Given the description of an element on the screen output the (x, y) to click on. 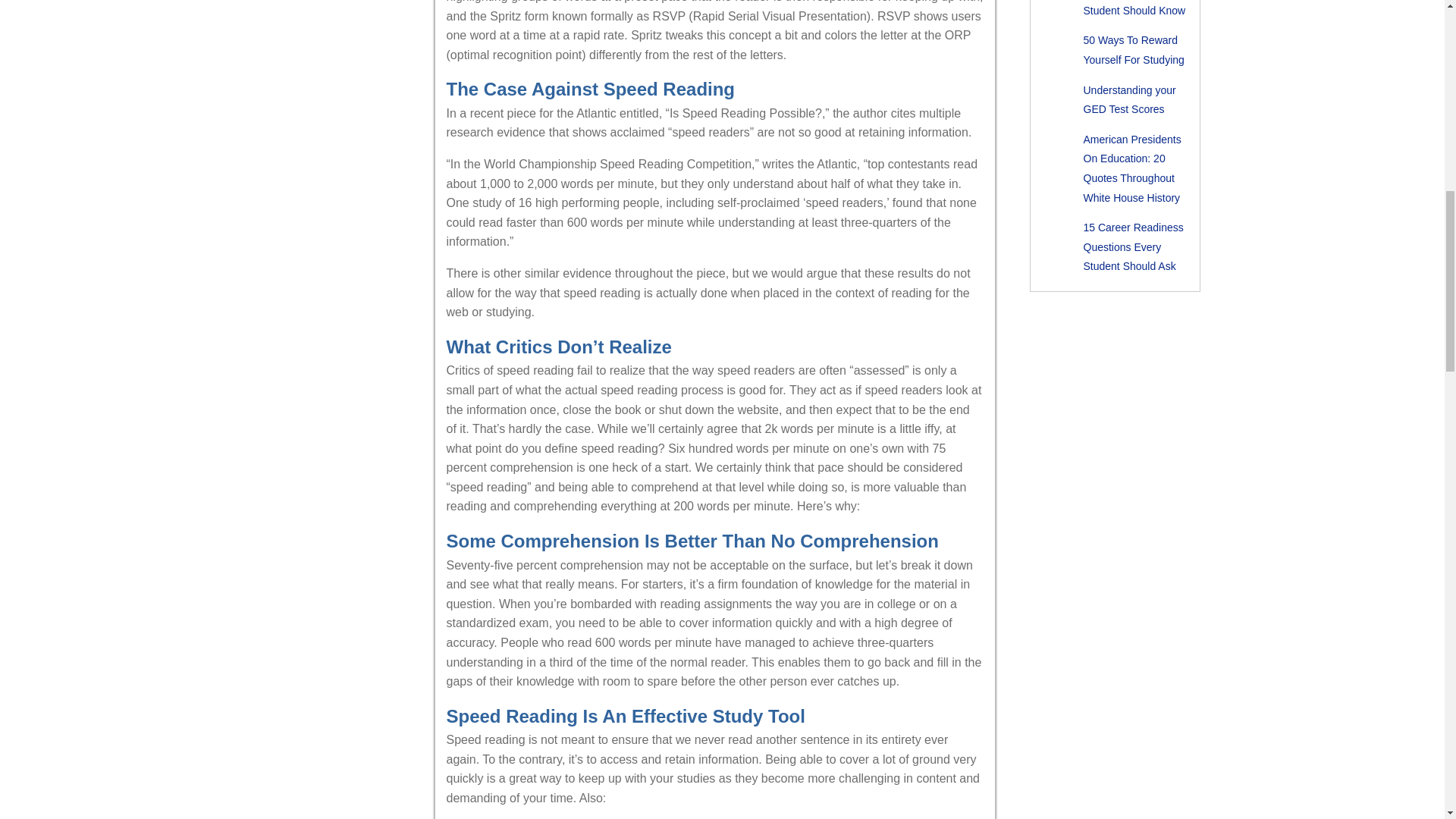
17 Quotes About Questioning Every Student Should Know (1134, 8)
Understanding your GED Test Scores (1128, 100)
50 Ways To Reward Yourself For Studying (1133, 50)
